Given the description of an element on the screen output the (x, y) to click on. 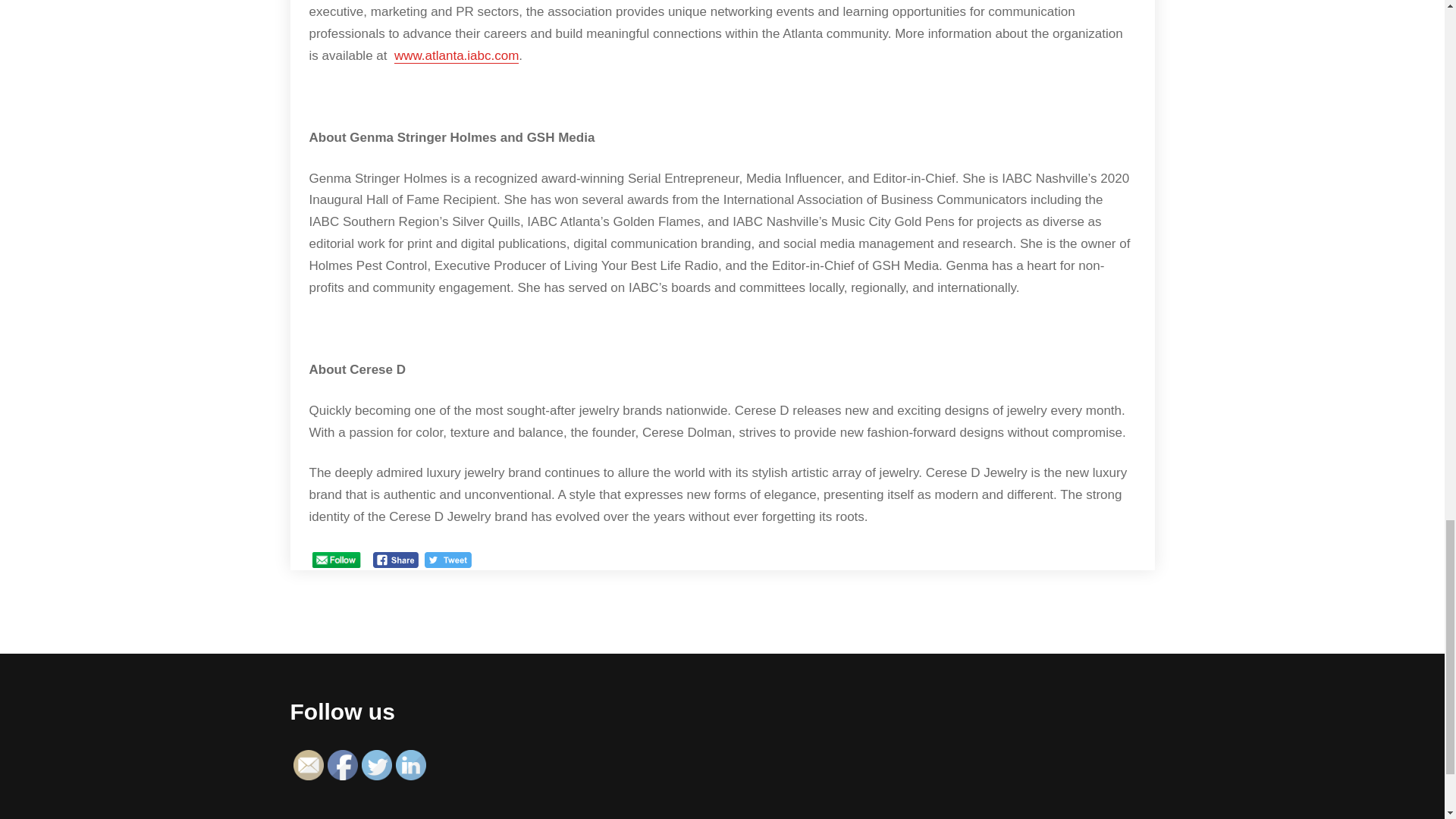
Twitter (376, 765)
www.atlanta.iabc.com (456, 55)
Tweet (448, 560)
Follow by Email (307, 765)
Facebook (342, 765)
Facebook Share (395, 560)
LinkedIn (411, 765)
